Given the description of an element on the screen output the (x, y) to click on. 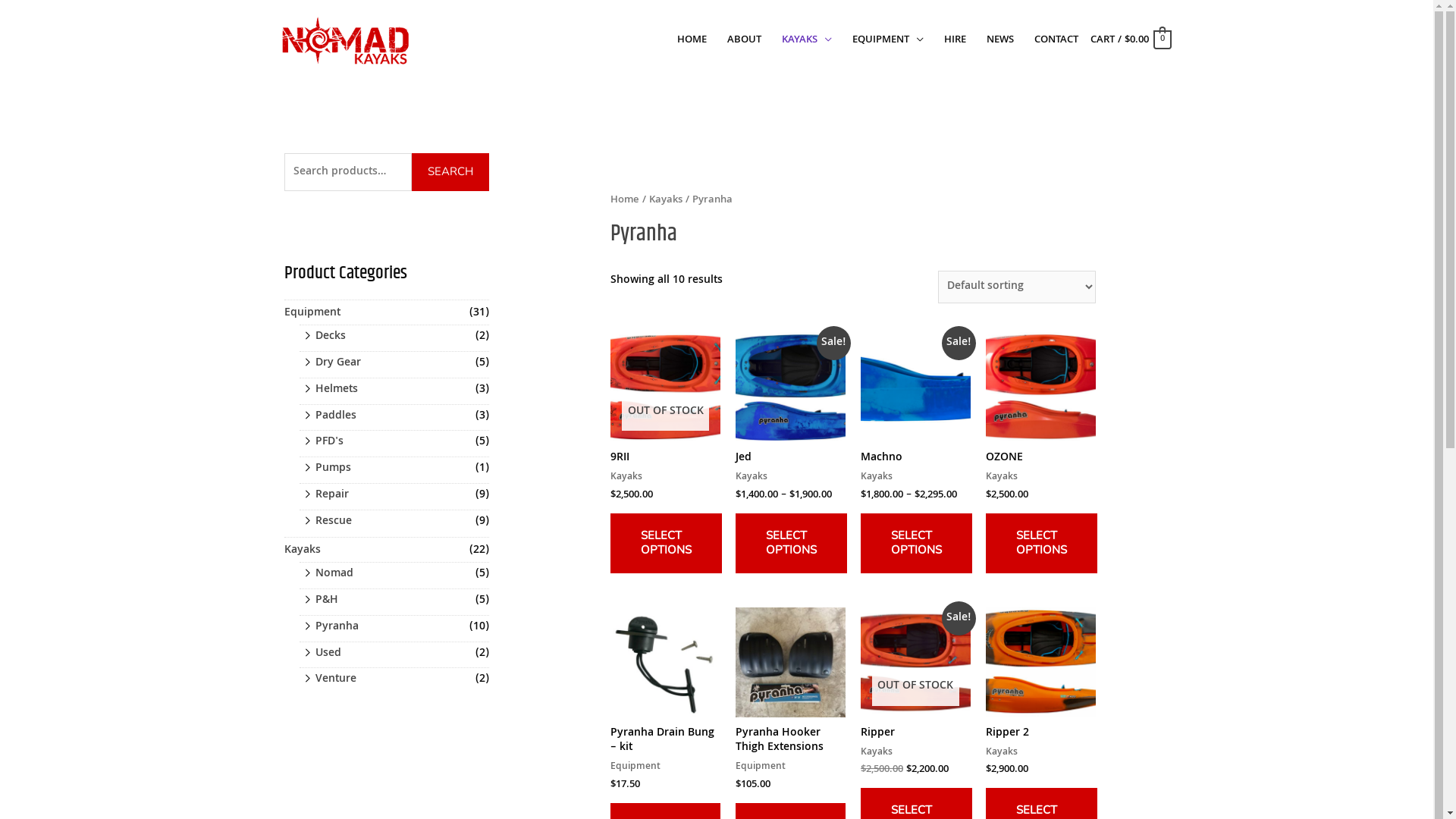
Repair Element type: text (331, 495)
Nomad Element type: text (334, 573)
HIRE Element type: text (955, 39)
Machno Element type: text (915, 458)
Pumps Element type: text (333, 468)
Equipment Element type: text (312, 313)
NEWS Element type: text (1000, 39)
HOME Element type: text (692, 39)
Pyranha Element type: text (336, 627)
KAYAKS Element type: text (806, 39)
EQUIPMENT Element type: text (888, 39)
Pyranha Hooker Thigh Extensions Element type: text (790, 741)
P&H Element type: text (326, 600)
SELECT OPTIONS Element type: text (1041, 543)
SELECT OPTIONS Element type: text (665, 543)
Ripper Element type: text (915, 733)
Home Element type: text (624, 199)
OUT OF STOCK Element type: text (665, 387)
Venture Element type: text (335, 679)
Jed Element type: text (790, 458)
Used Element type: text (328, 653)
PFD's Element type: text (329, 442)
Kayaks Element type: text (302, 550)
OZONE Element type: text (1040, 458)
ABOUT Element type: text (744, 39)
SELECT OPTIONS Element type: text (916, 543)
Helmets Element type: text (336, 389)
OUT OF STOCK Element type: text (915, 662)
9RII Element type: text (665, 458)
Paddles Element type: text (335, 416)
Kayaks Element type: text (665, 199)
SEARCH Element type: text (450, 172)
CART / $0.00 0 Element type: text (1129, 39)
Dry Gear Element type: text (337, 363)
SELECT OPTIONS Element type: text (791, 543)
Rescue Element type: text (333, 521)
Decks Element type: text (330, 336)
Ripper 2 Element type: text (1040, 733)
CONTACT Element type: text (1056, 39)
